Given the description of an element on the screen output the (x, y) to click on. 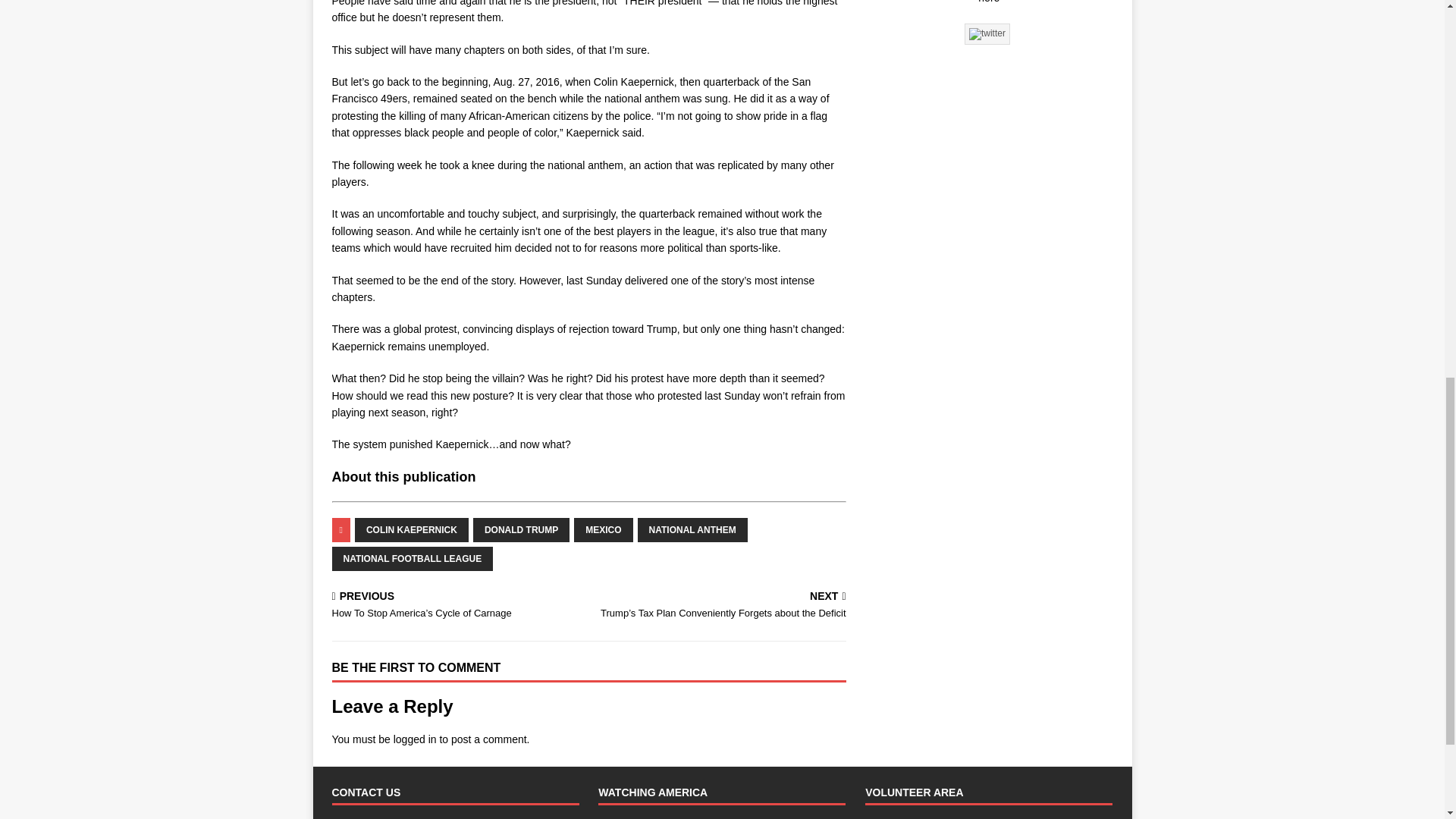
NATIONAL ANTHEM (692, 529)
MEXICO (602, 529)
COLIN KAEPERNICK (411, 529)
NATIONAL FOOTBALL LEAGUE (412, 558)
DONALD TRUMP (521, 529)
logged in (414, 739)
